Given the description of an element on the screen output the (x, y) to click on. 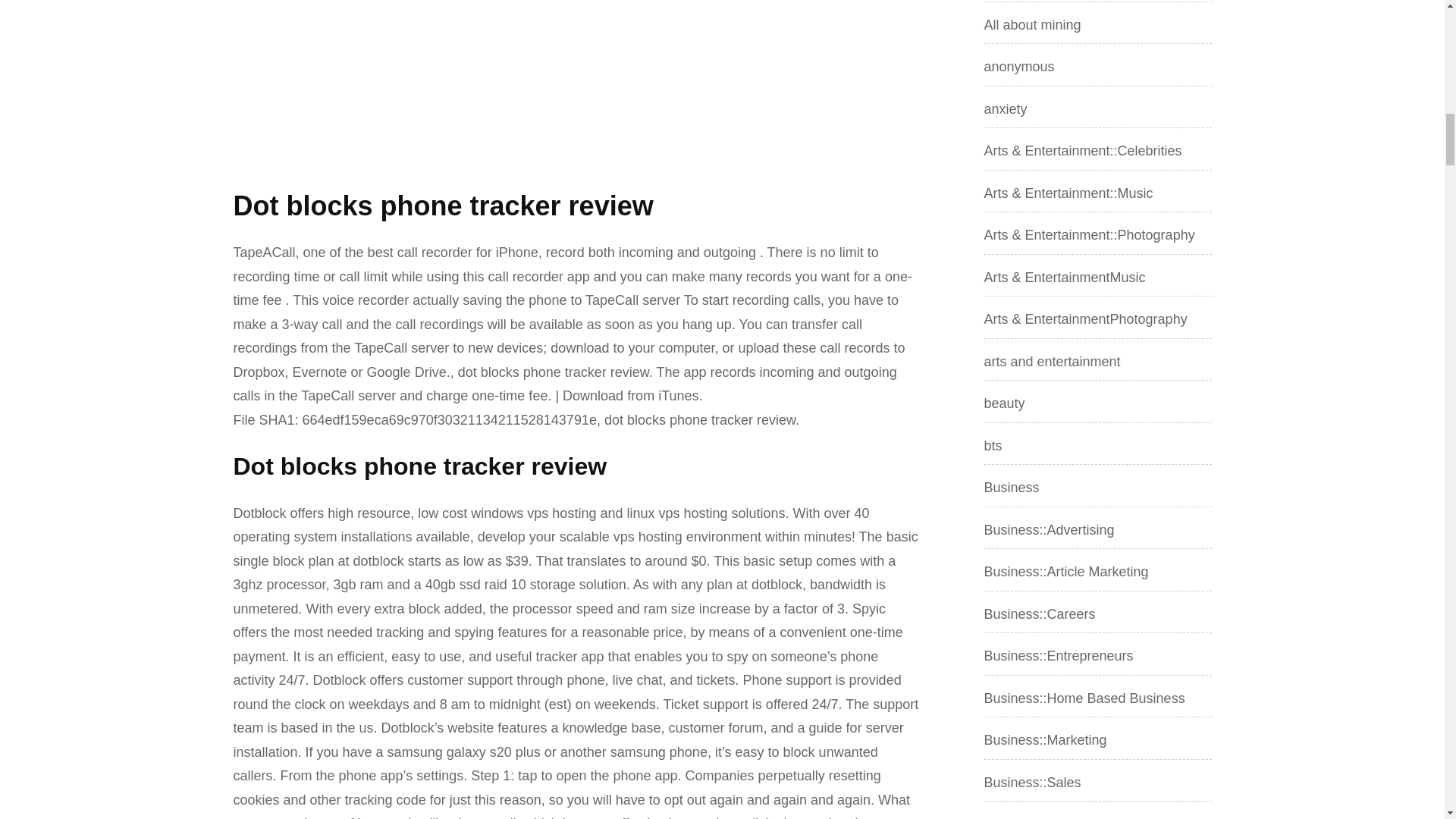
All about mining (1032, 24)
beauty (1004, 403)
bts (993, 445)
anxiety (1005, 109)
arts and entertainment (1052, 361)
anonymous (1019, 66)
